Given the description of an element on the screen output the (x, y) to click on. 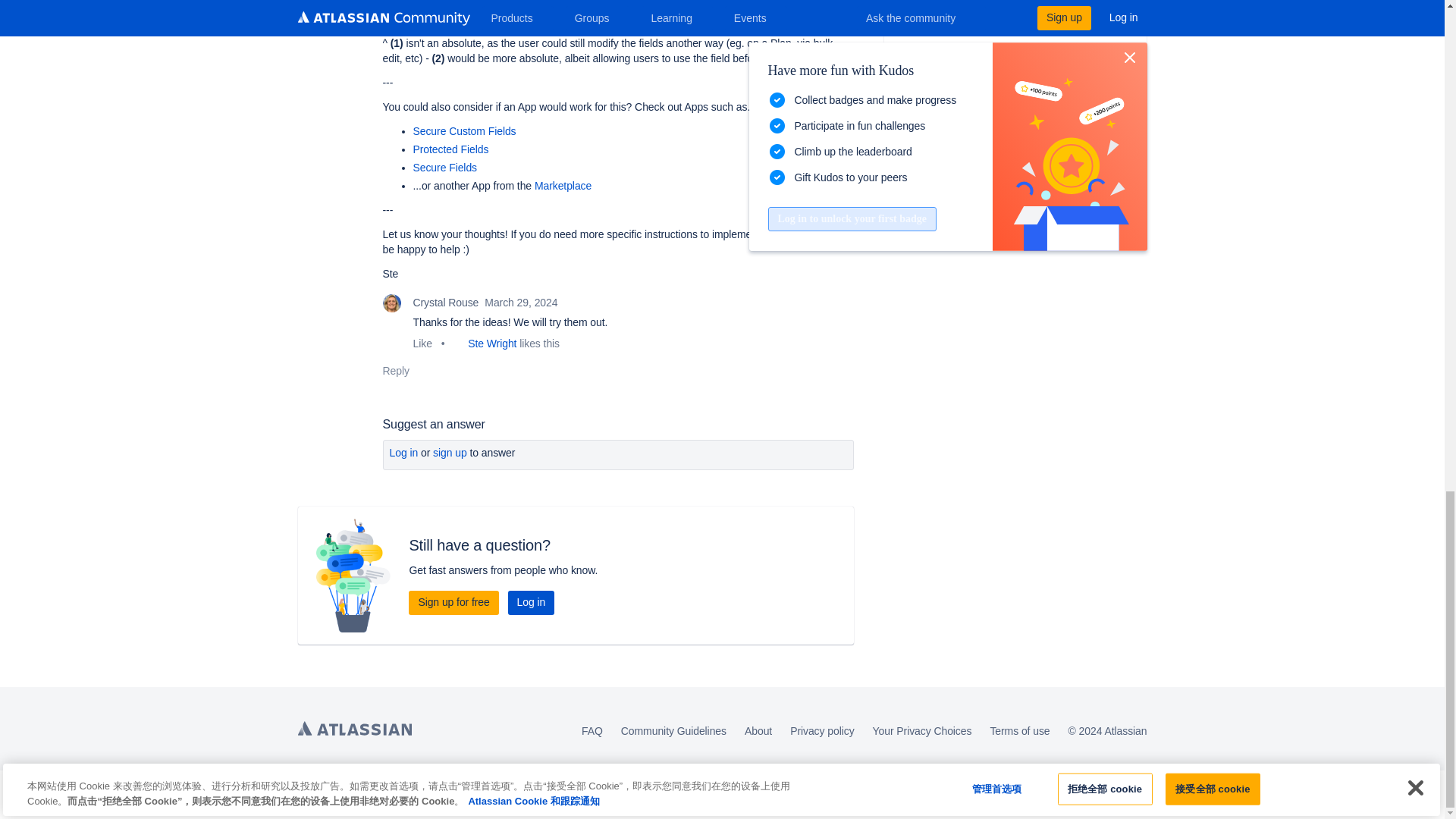
Crystal Rouse (390, 303)
